Given the description of an element on the screen output the (x, y) to click on. 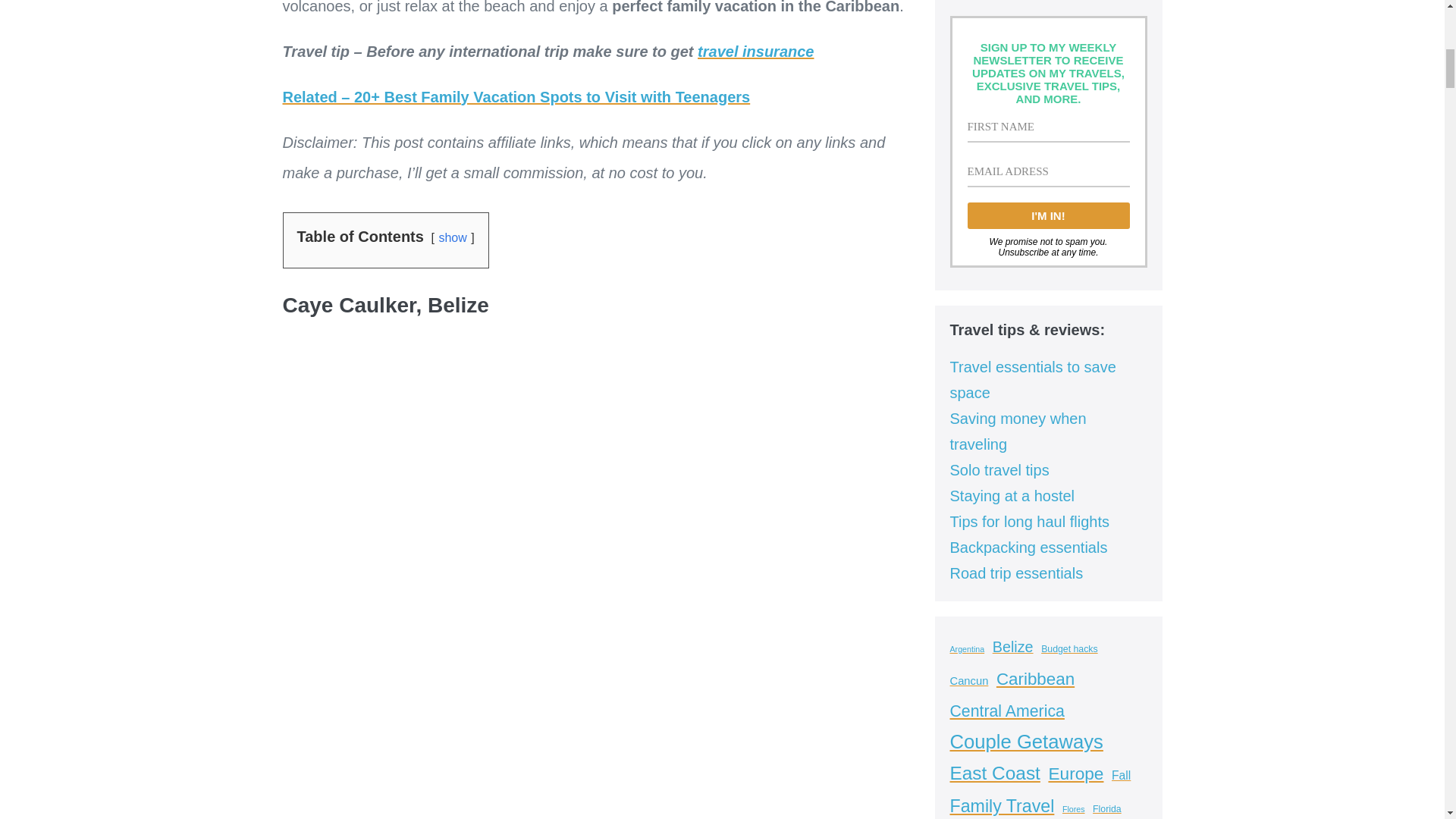
I'M IN! (1048, 215)
